Given the description of an element on the screen output the (x, y) to click on. 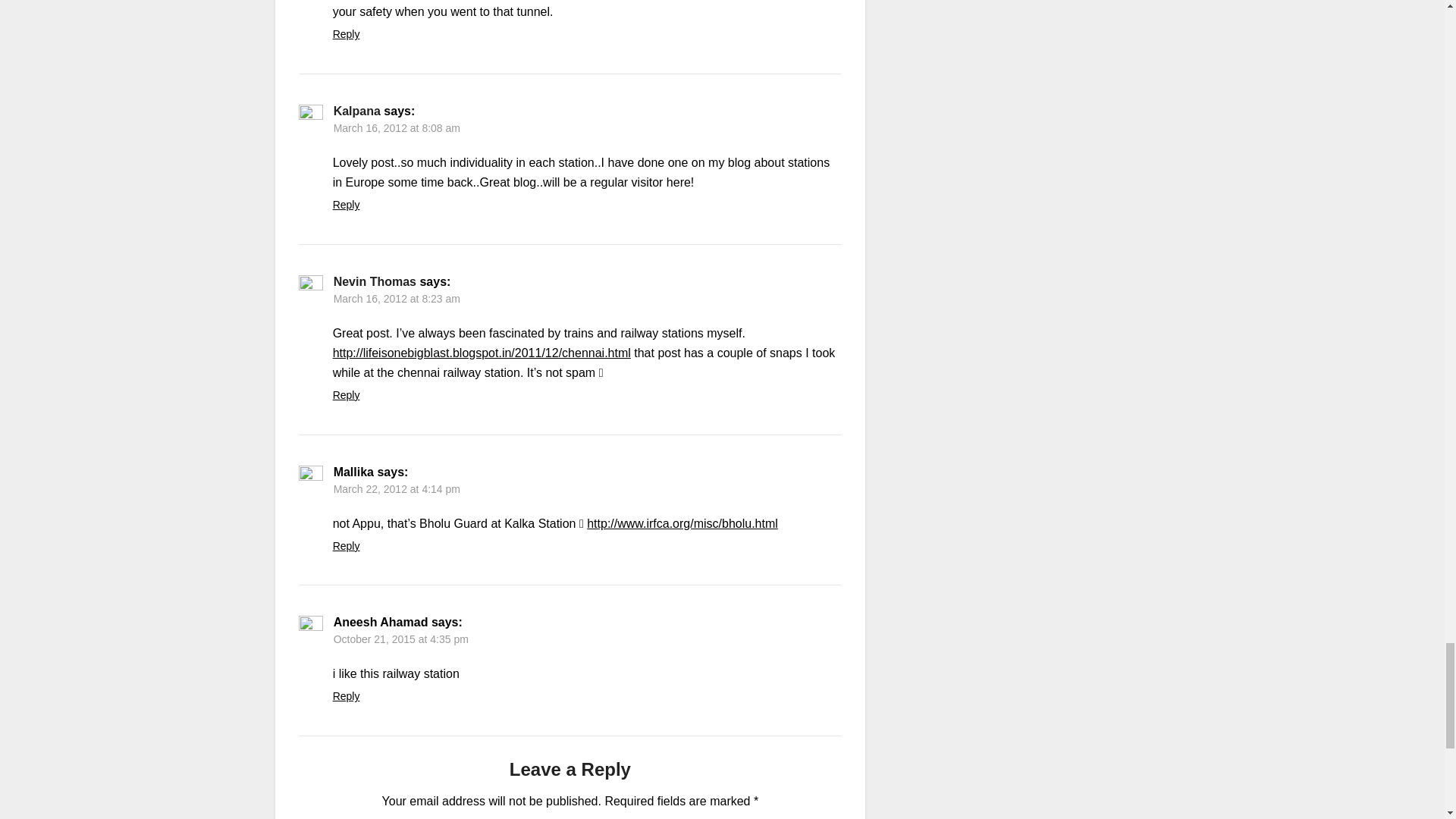
Kalpana (356, 110)
Reply (346, 33)
March 16, 2012 at 8:08 am (396, 128)
